Given the description of an element on the screen output the (x, y) to click on. 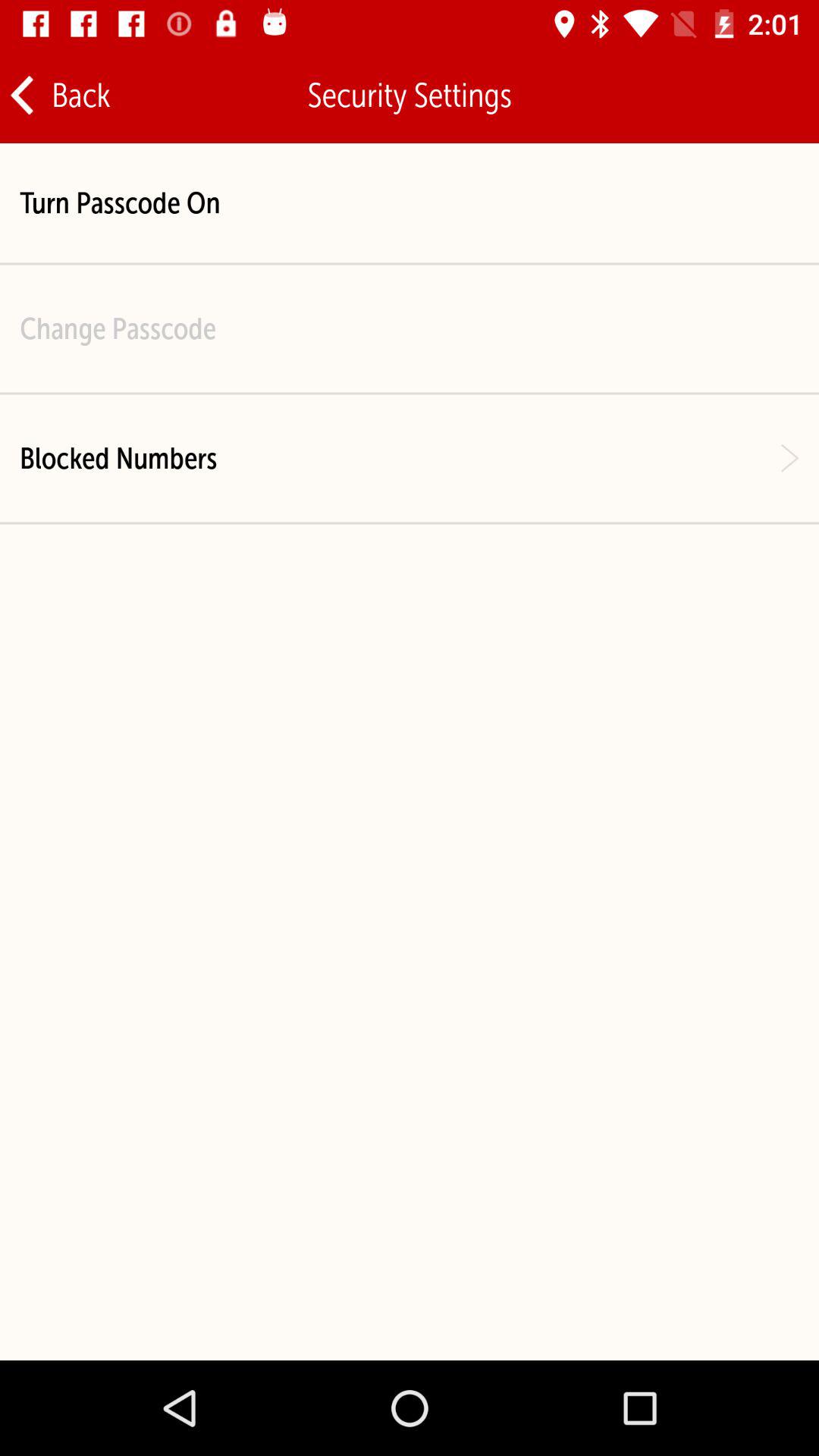
click icon below the turn passcode on item (117, 328)
